Given the description of an element on the screen output the (x, y) to click on. 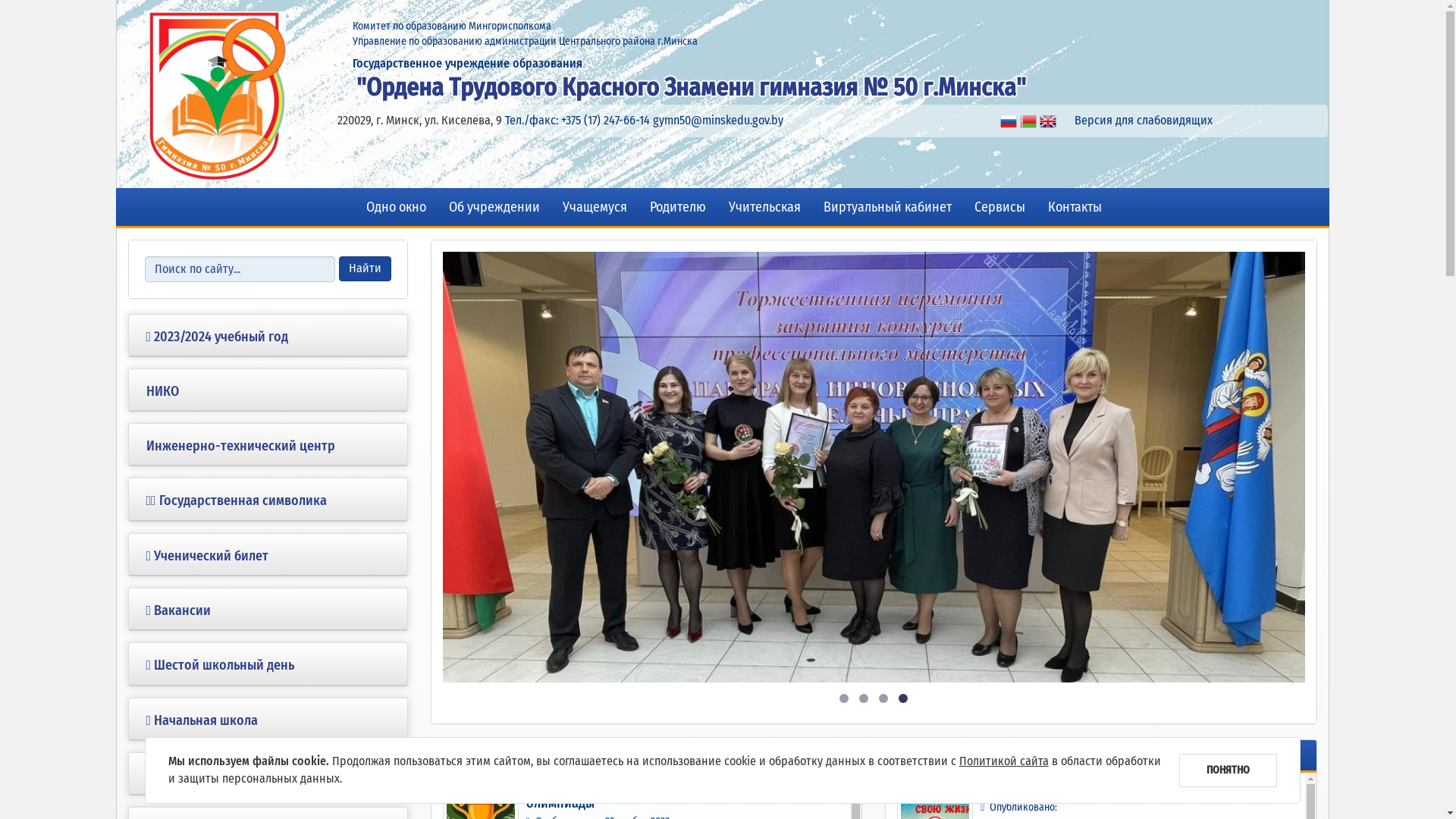
gymn50@minskedu.gov.by Element type: text (717, 119)
